Given the description of an element on the screen output the (x, y) to click on. 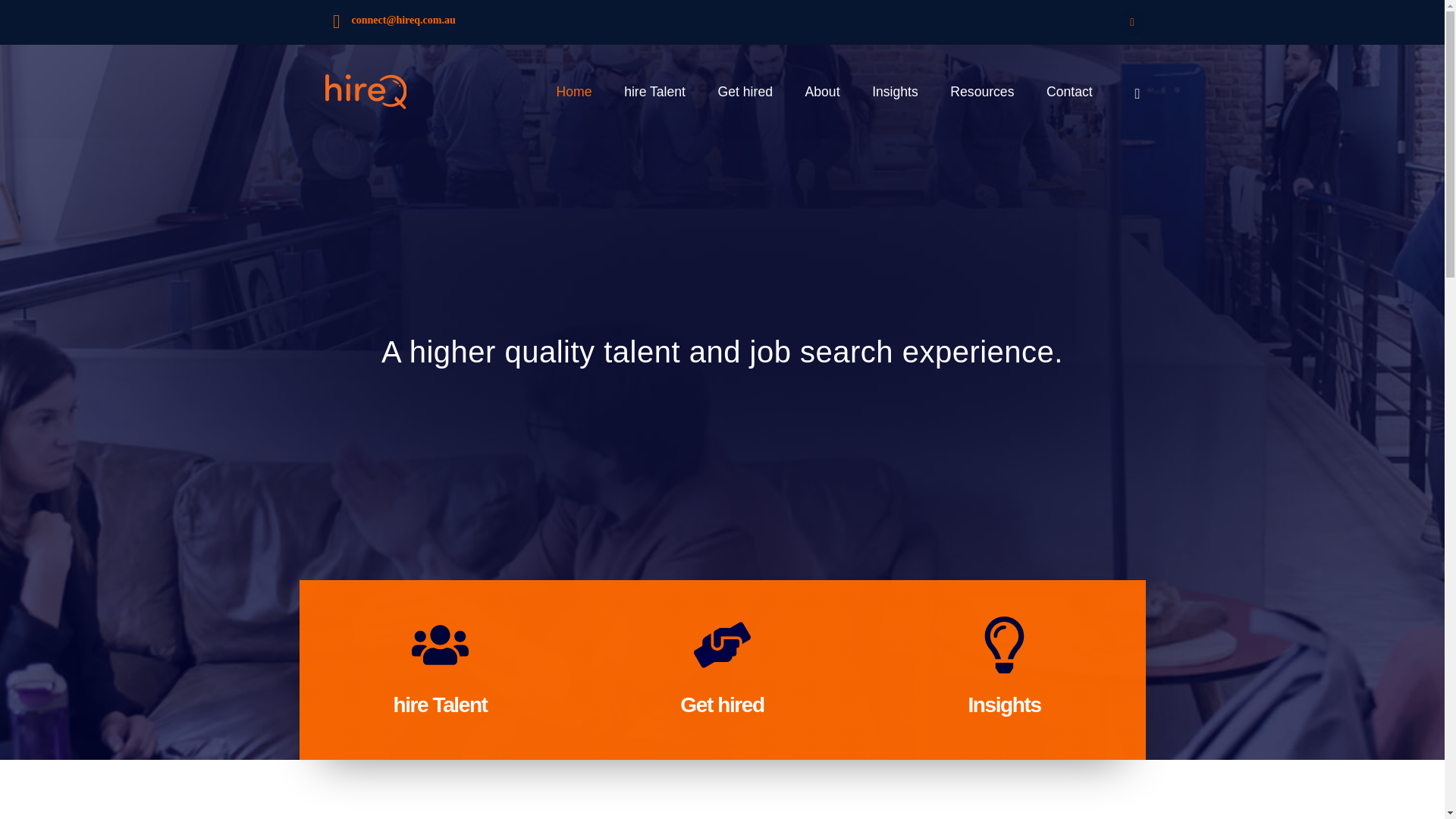
Get hired (720, 704)
Resources (982, 91)
Get hired (745, 91)
hire Talent (439, 704)
Contact (606, 553)
Get hired (609, 509)
Home (601, 465)
Insights (1004, 704)
LinkedIn (1131, 21)
About (601, 531)
